Given the description of an element on the screen output the (x, y) to click on. 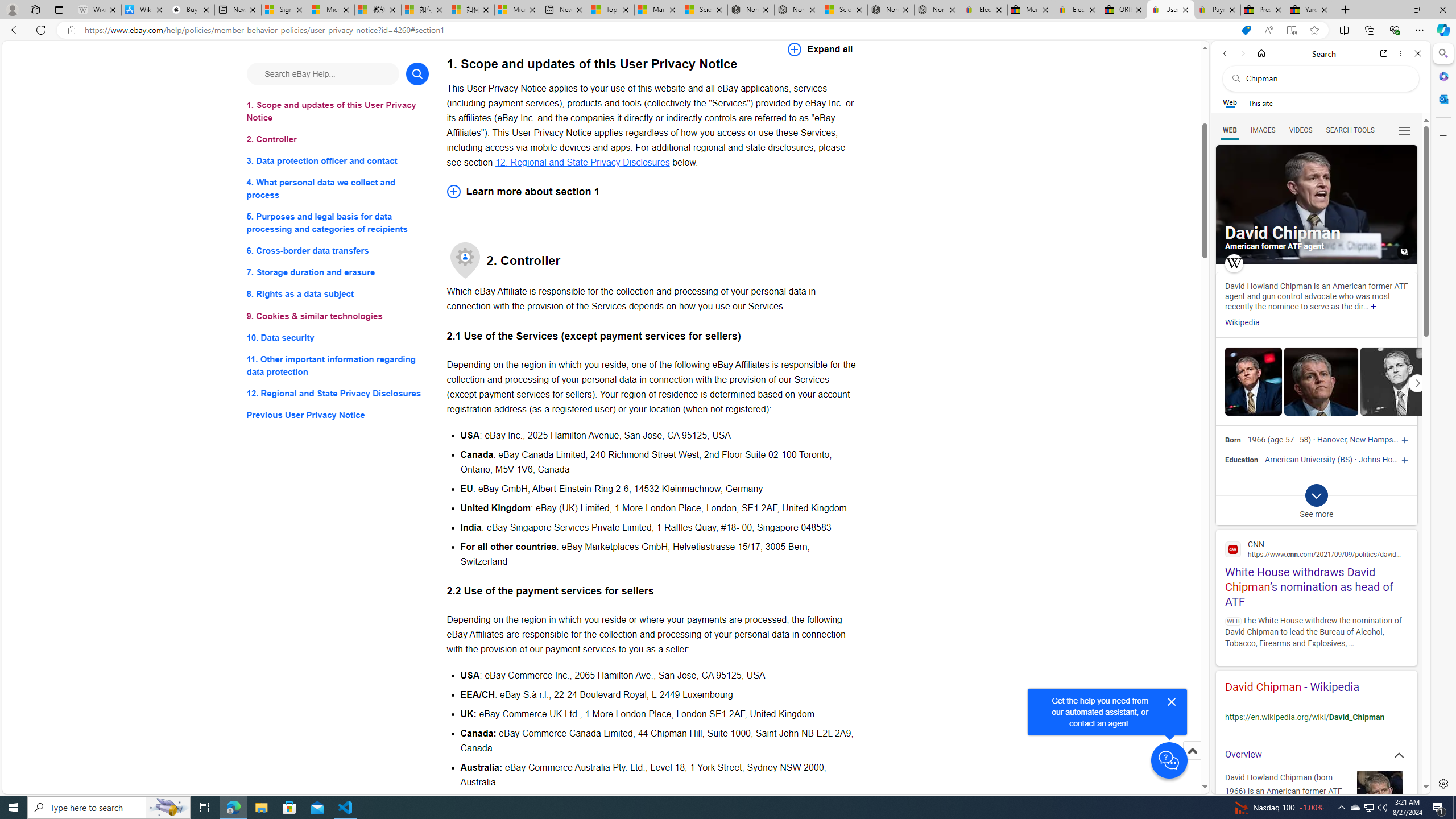
Forward (1242, 53)
All images (1404, 252)
Johns Hopkins University (1403, 460)
9. Cookies & similar technologies (337, 315)
American University (1300, 460)
